Given the description of an element on the screen output the (x, y) to click on. 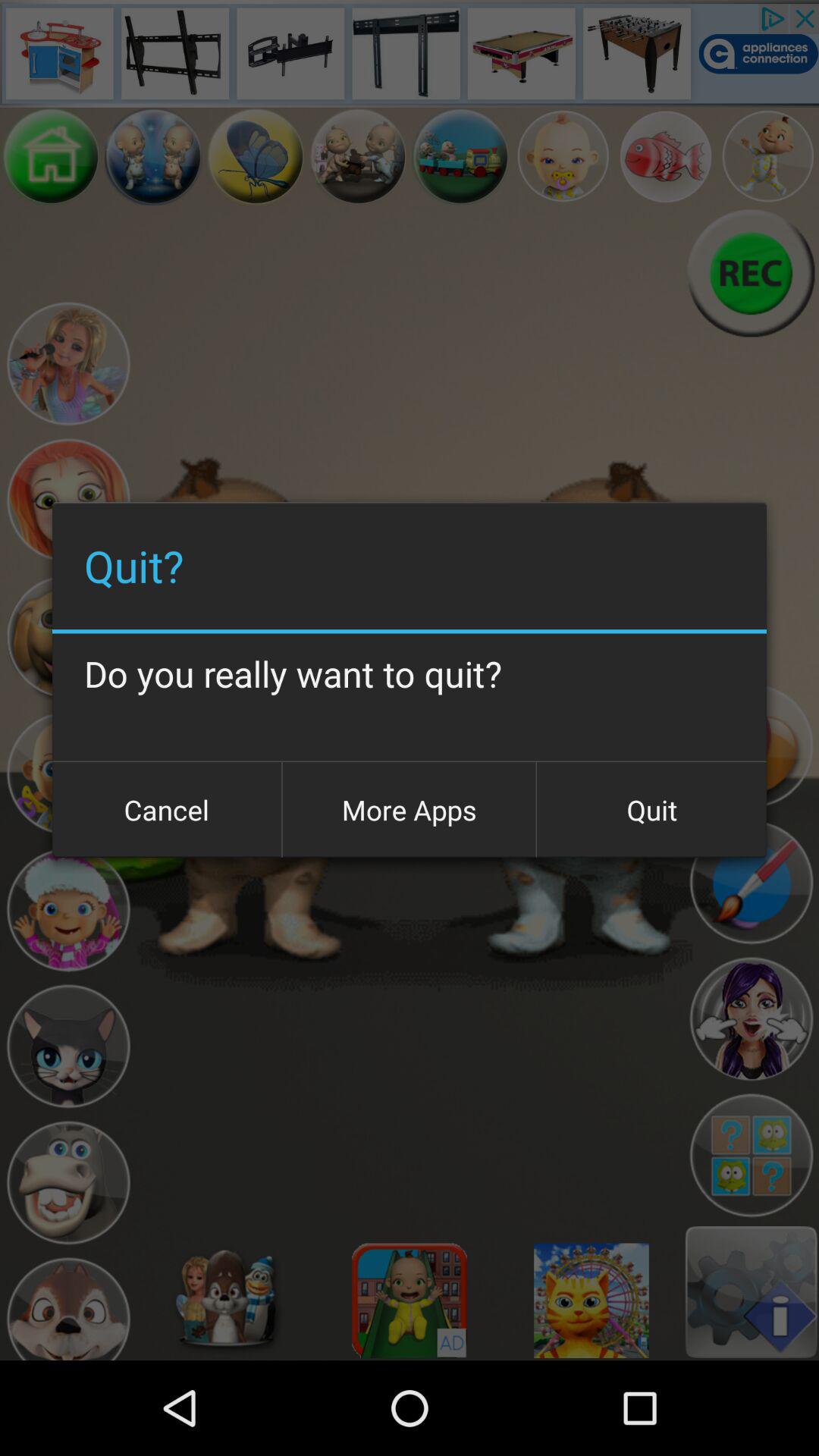
choose character (68, 363)
